Given the description of an element on the screen output the (x, y) to click on. 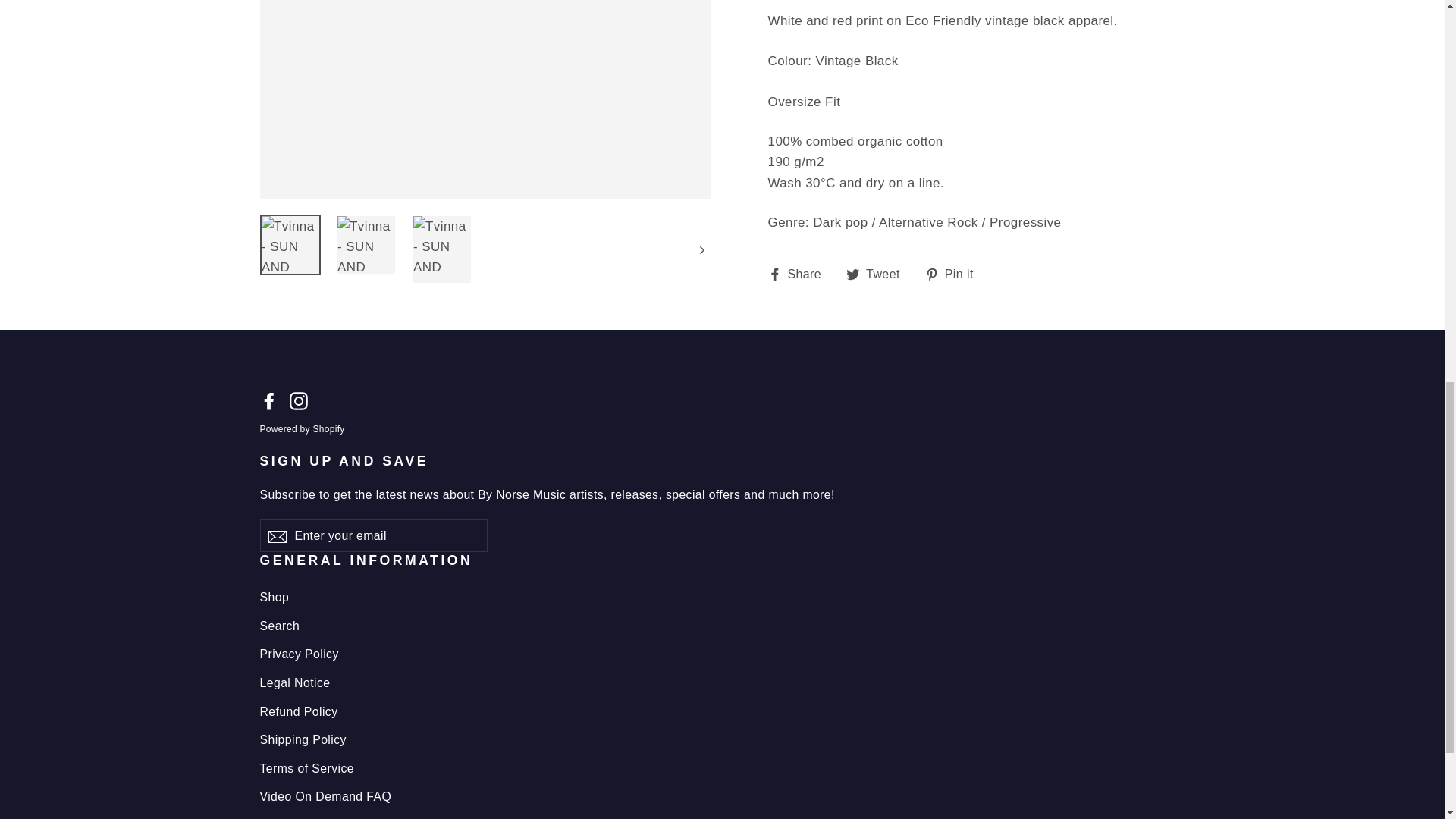
Pin on Pinterest (954, 273)
Instagram (954, 273)
Subscribe (298, 400)
Powered by Shopify (276, 535)
ByNorse Music on Instagram (301, 429)
Share on Facebook (298, 400)
Tweet on Twitter (799, 273)
Shop (878, 273)
